Given the description of an element on the screen output the (x, y) to click on. 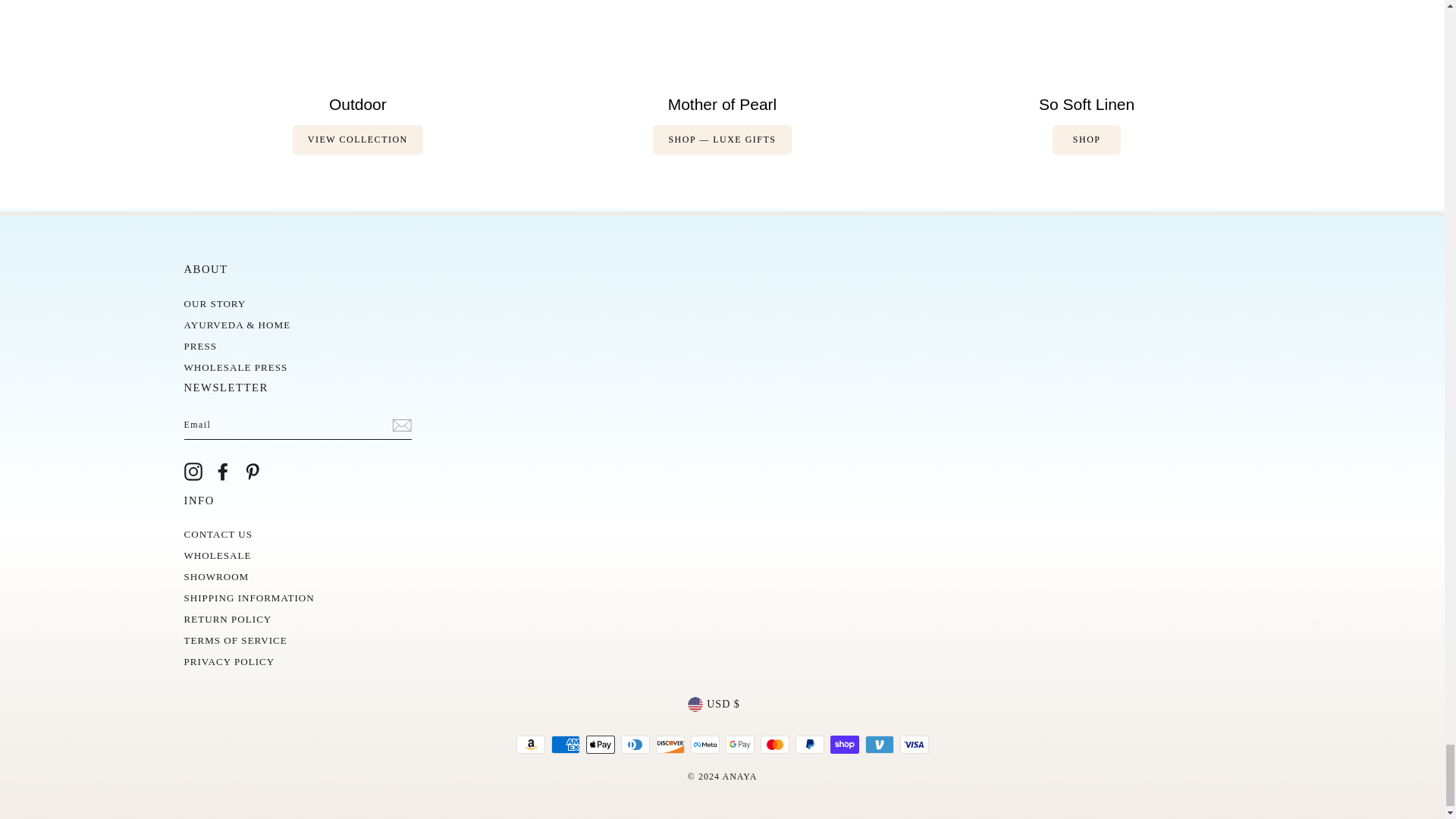
American Express (564, 744)
Shop Pay (844, 744)
Amazon (529, 744)
Venmo (878, 744)
Anaya on Instagram (192, 471)
Anaya on Facebook (222, 471)
PayPal (809, 744)
Diners Club (634, 744)
Meta Pay (704, 744)
Google Pay (739, 744)
